Given the description of an element on the screen output the (x, y) to click on. 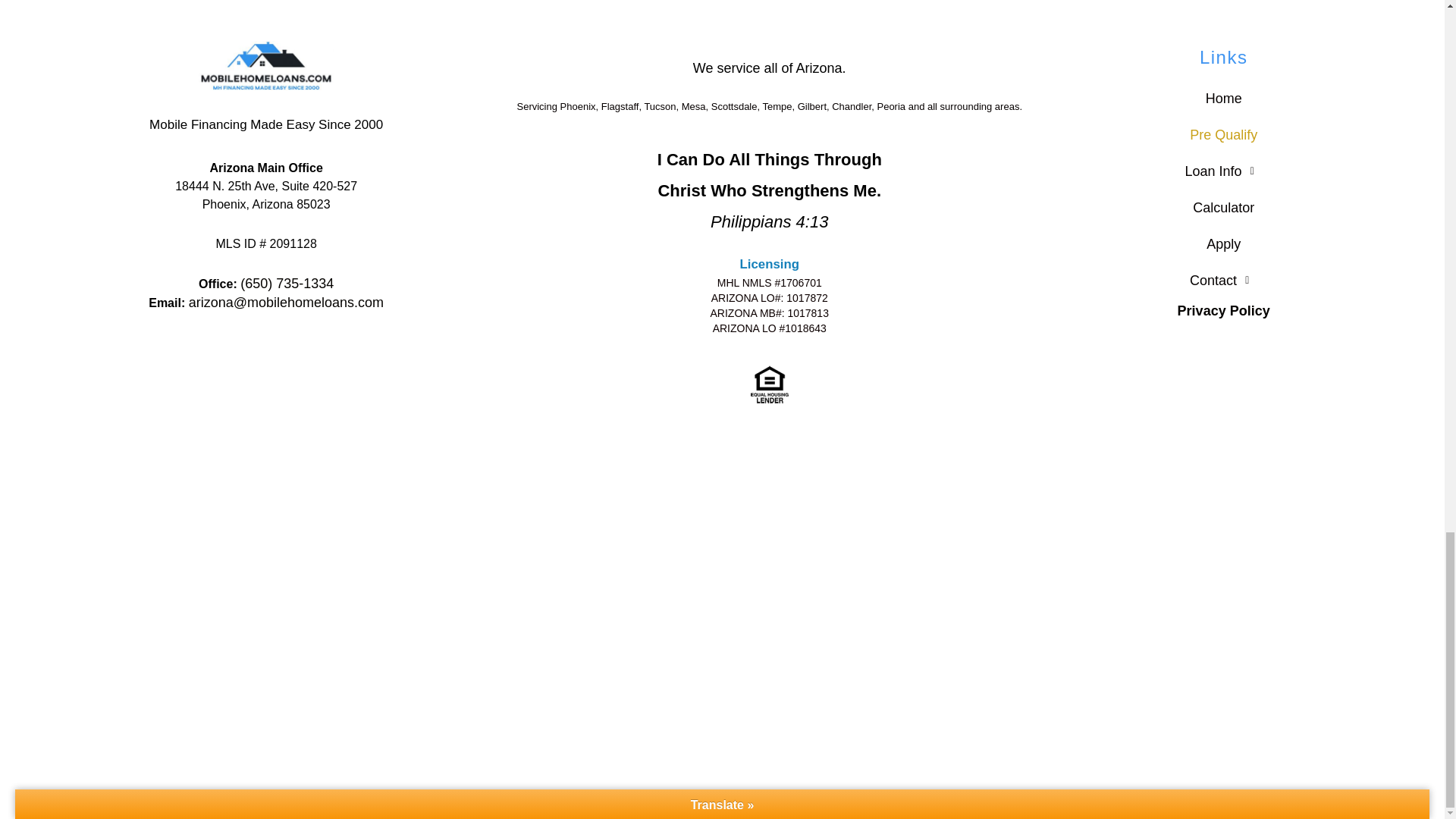
lender-equal-housing-opportunity-logo.png (770, 384)
Apply (1223, 244)
Privacy Policy (1223, 310)
Pre Qualify (1223, 135)
Home (1223, 98)
Loan Info (1223, 171)
Contact (1223, 280)
Calculator (1223, 207)
mobile-home-loans-arizona-logo.jpg (265, 64)
